Given the description of an element on the screen output the (x, y) to click on. 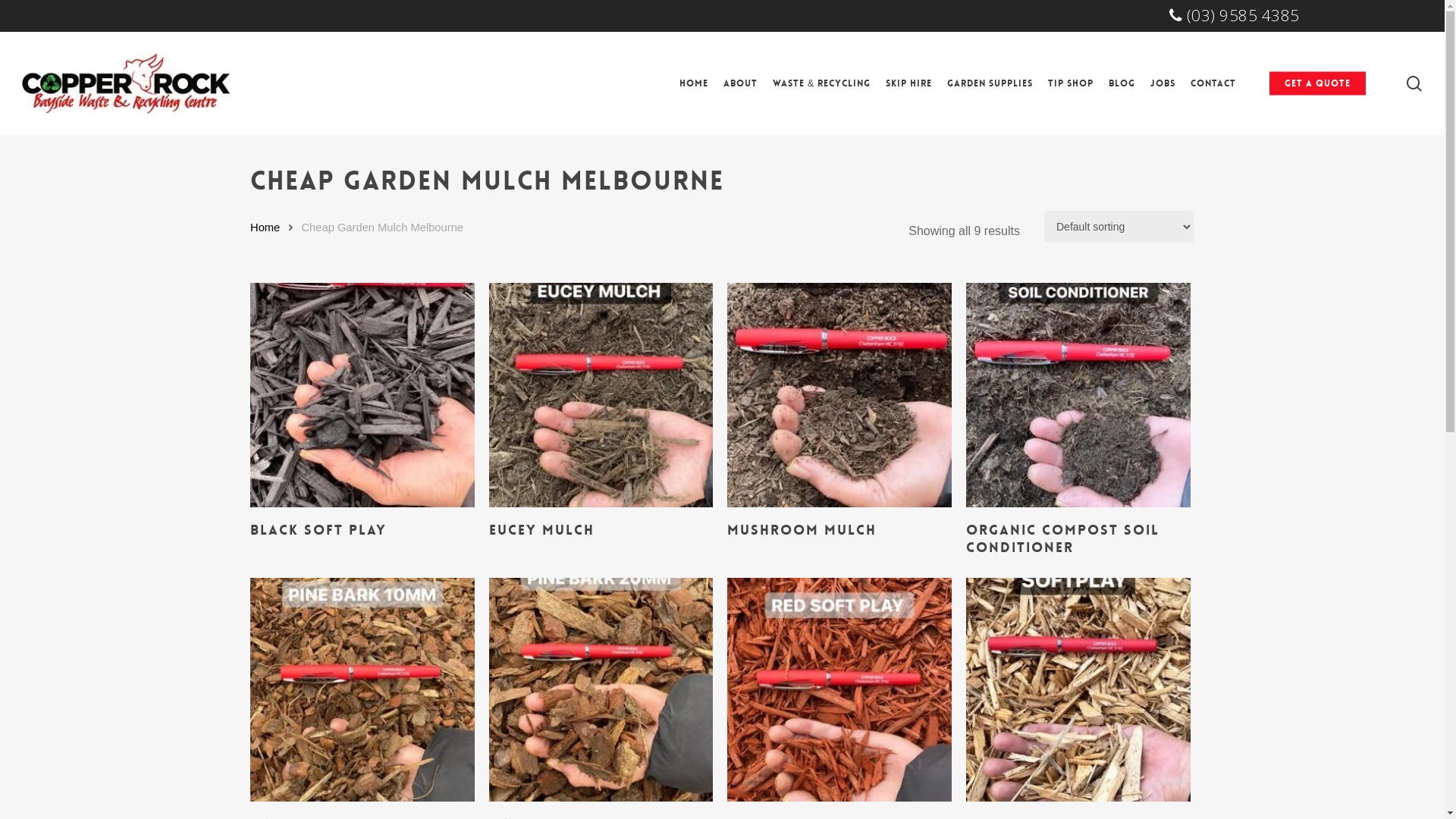
Home Element type: text (264, 227)
Garden Supplies Element type: text (989, 82)
Home Element type: text (693, 82)
Get A Quote Element type: text (1317, 83)
Contact Element type: text (1213, 82)
Skip Hire Element type: text (908, 82)
About Element type: text (740, 82)
Tip Shop Element type: text (1070, 82)
search Element type: text (1414, 83)
Waste & Recycling Element type: text (821, 82)
Jobs Element type: text (1162, 82)
Blog Element type: text (1121, 82)
(03) 9585 4385 Element type: text (1234, 16)
